Given the description of an element on the screen output the (x, y) to click on. 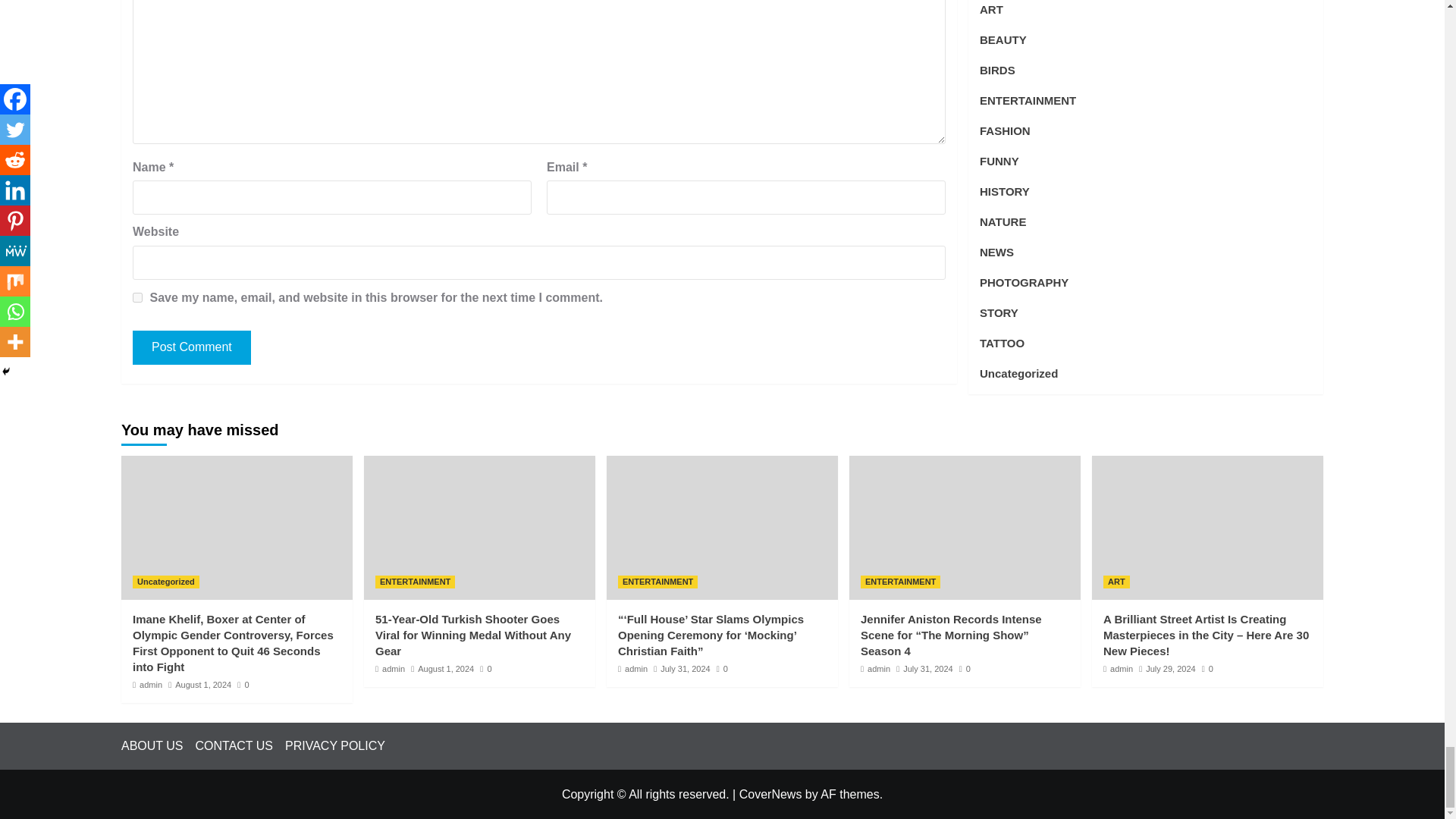
Post Comment (191, 347)
yes (137, 297)
